Given the description of an element on the screen output the (x, y) to click on. 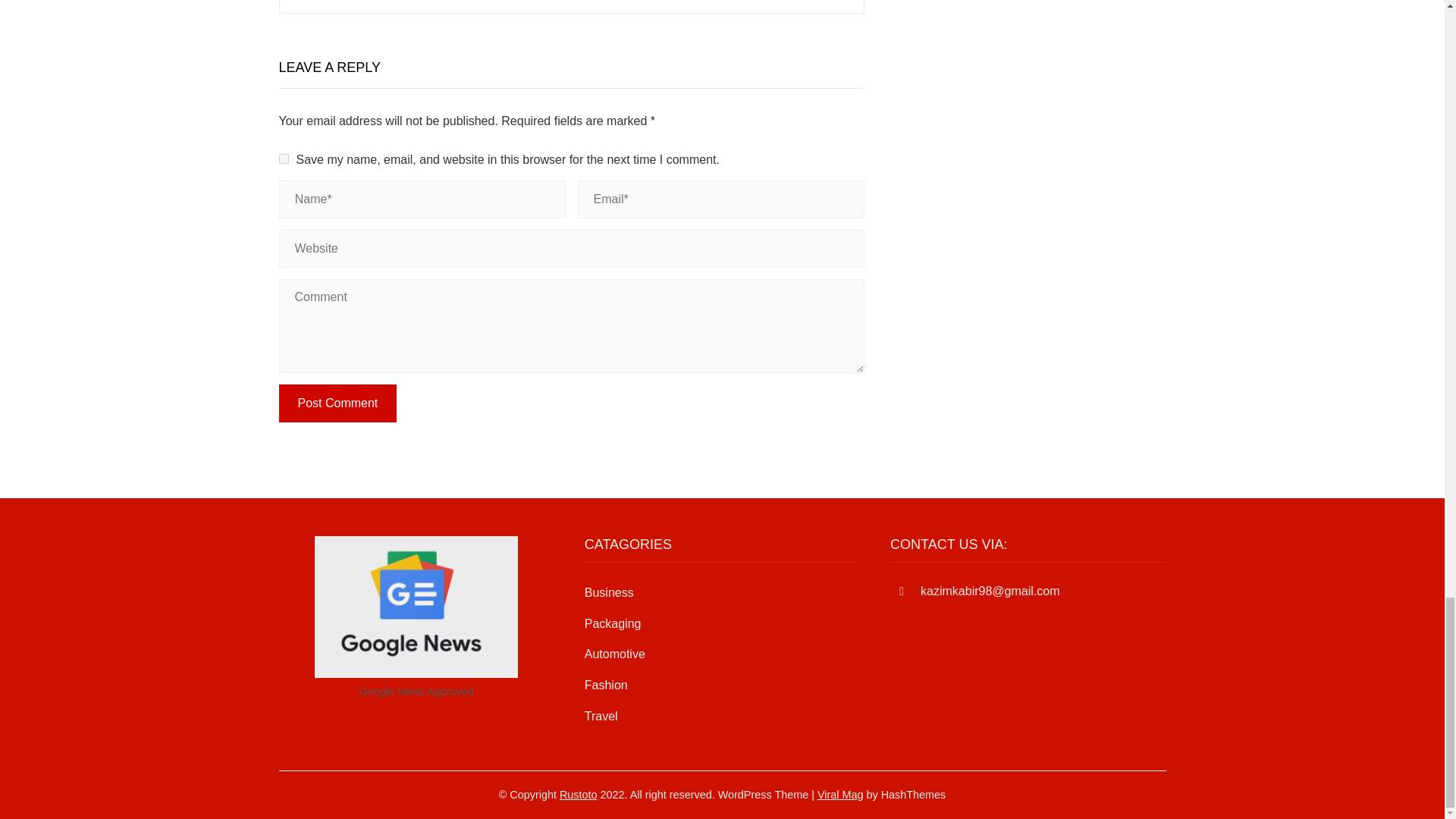
yes (283, 158)
Download Viral News (839, 794)
Post Comment (338, 403)
